Given the description of an element on the screen output the (x, y) to click on. 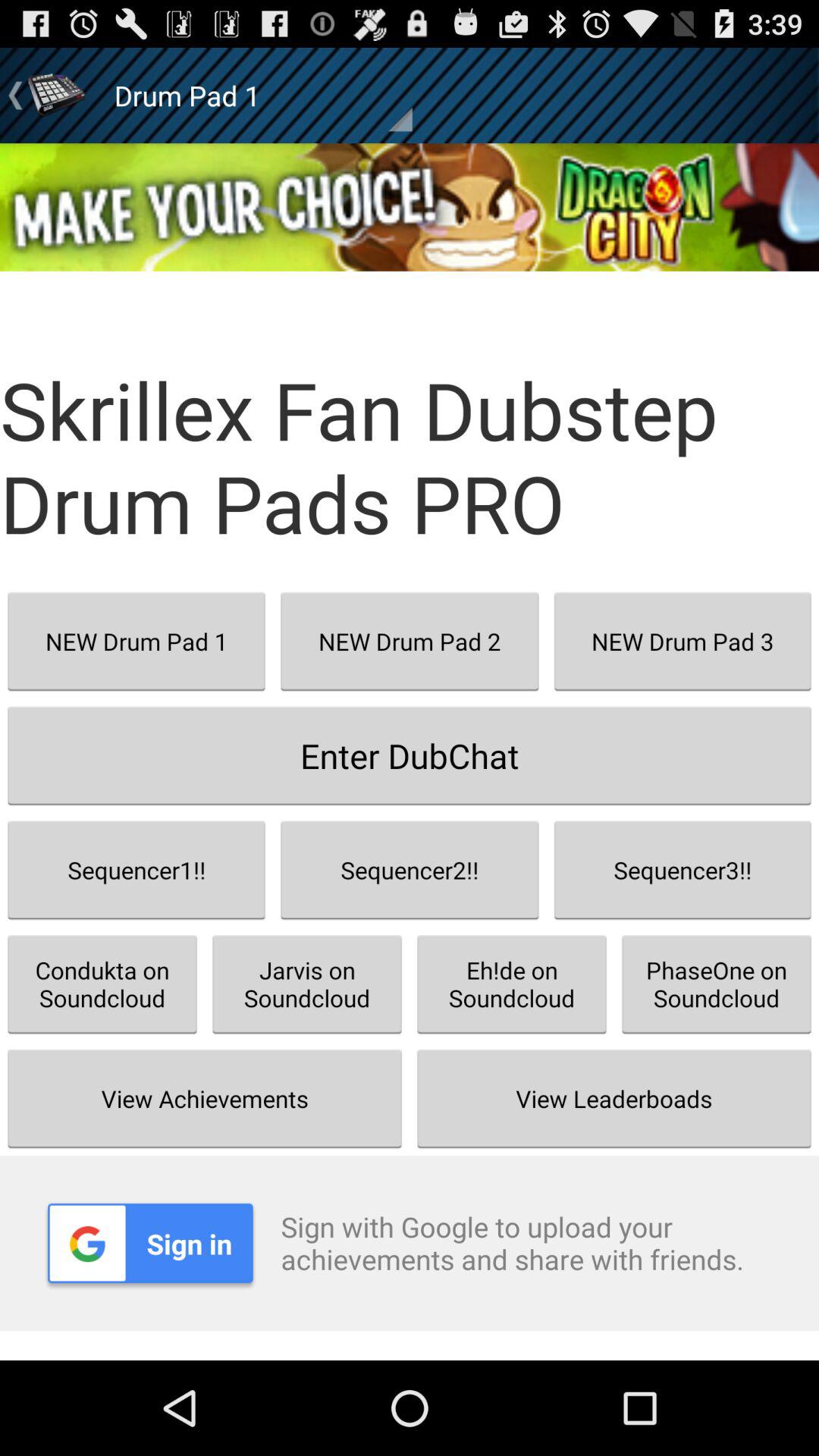
open button below the sequencer2!! button (511, 984)
